Given the description of an element on the screen output the (x, y) to click on. 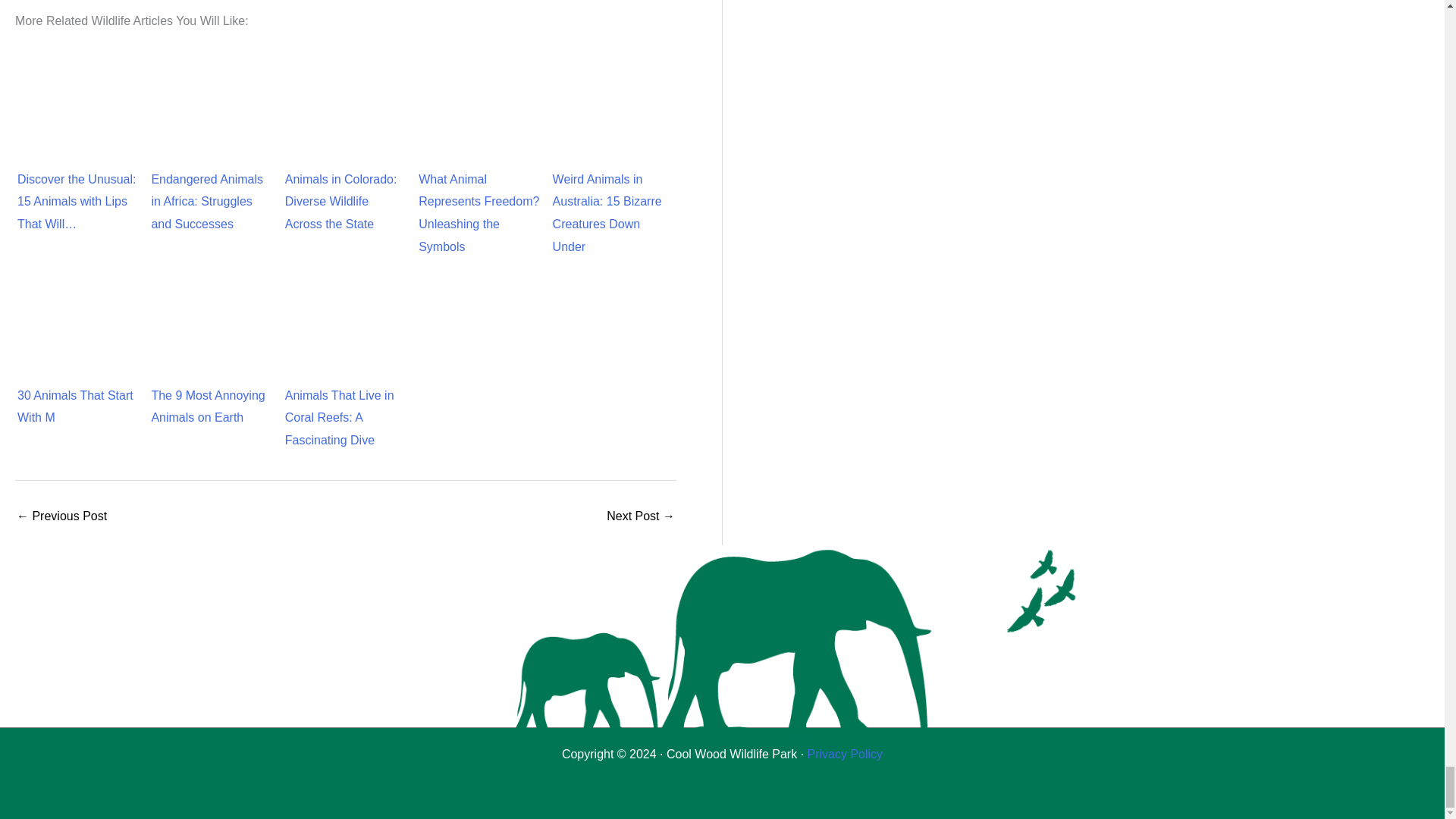
30 Animals That Start With M (78, 308)
Animals That Live in Coral Reefs: A Fascinating Dive (345, 327)
Animals in Colorado: Diverse Wildlife Across the State (345, 111)
Weird Animals in Australia: 15 Bizarre Creatures Down Under (612, 111)
Endangered Animals in Africa: Struggles and Successes (212, 111)
The 9 Most Annoying Animals on Earth (212, 327)
What Animal Represents Freedom? Unleashing the Symbols (478, 111)
11 Interesting Animals in Paris (61, 516)
